Given the description of an element on the screen output the (x, y) to click on. 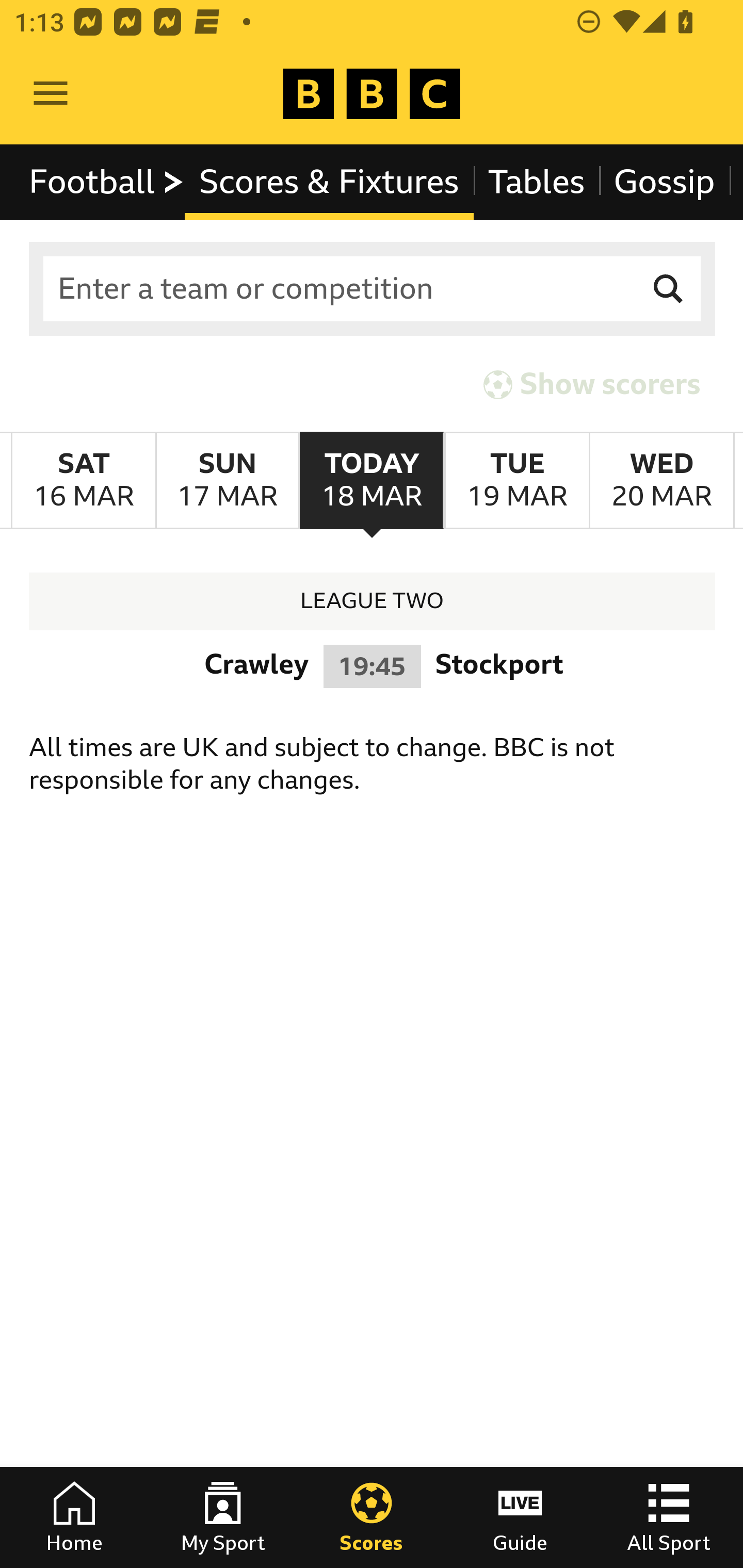
Open Menu (50, 93)
Football  (106, 181)
Scores & Fixtures (329, 181)
Tables (536, 181)
Gossip (664, 181)
Search (669, 289)
Show scorers (591, 383)
SaturdayMarch 16th Saturday March 16th (83, 480)
SundayMarch 17th Sunday March 17th (227, 480)
TuesdayMarch 19th Tuesday March 19th (516, 480)
WednesdayMarch 20th Wednesday March 20th (661, 480)
Home (74, 1517)
My Sport (222, 1517)
Guide (519, 1517)
All Sport (668, 1517)
